Given the description of an element on the screen output the (x, y) to click on. 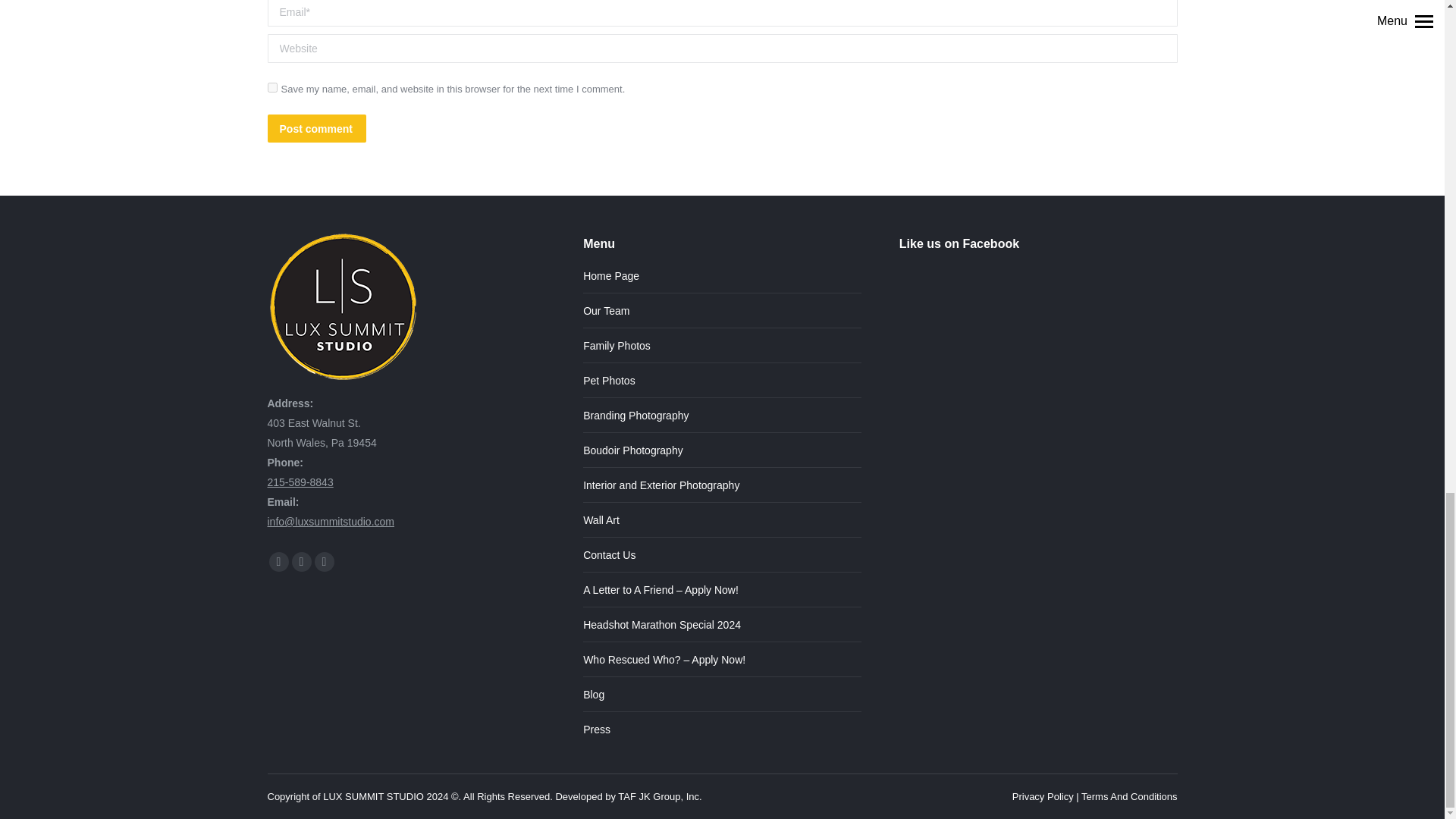
Facebook page opens in new window (277, 561)
Instagram page opens in new window (323, 561)
yes (271, 87)
YouTube page opens in new window (301, 561)
